Given the description of an element on the screen output the (x, y) to click on. 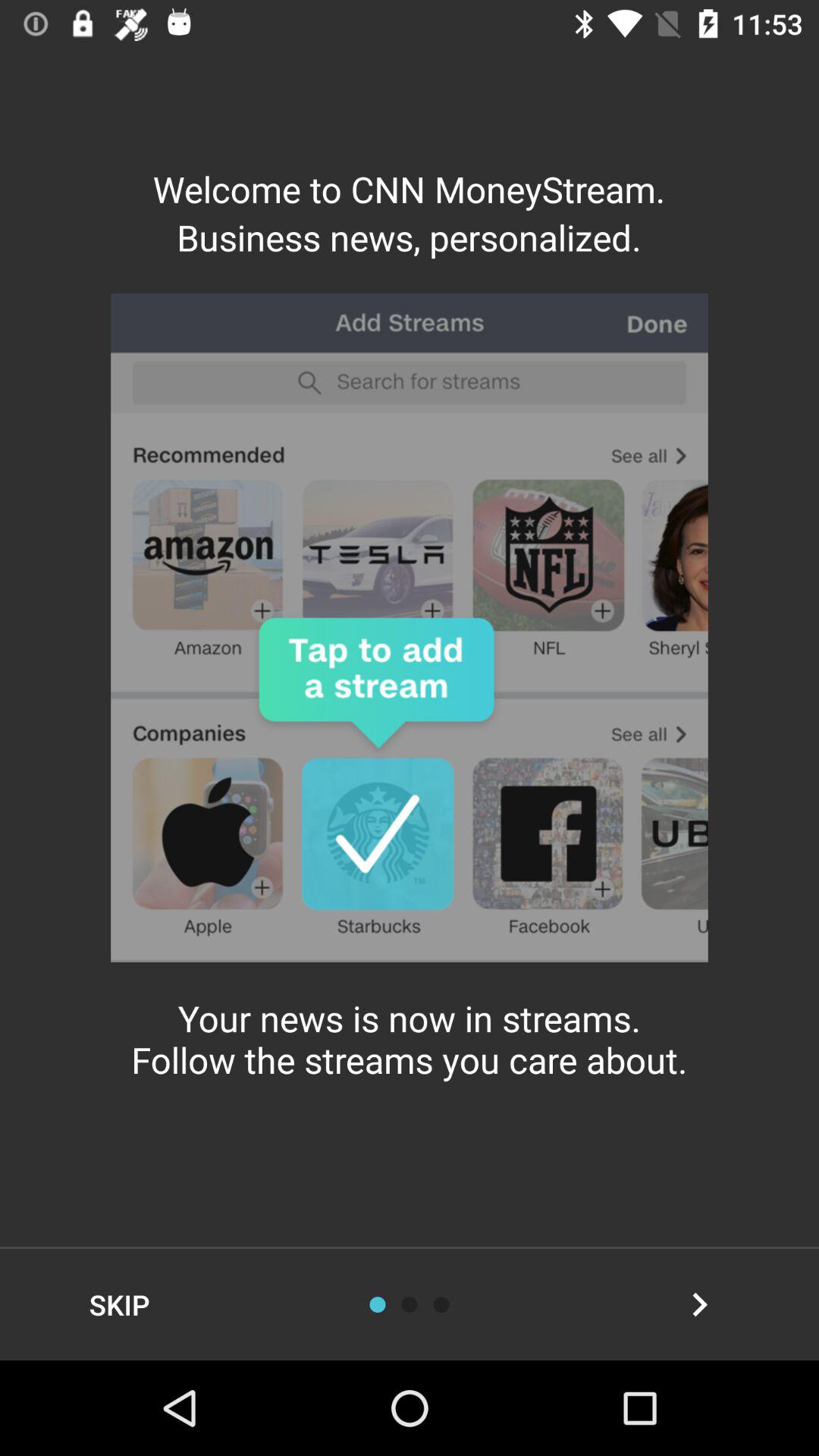
press the item at the bottom right corner (699, 1304)
